Given the description of an element on the screen output the (x, y) to click on. 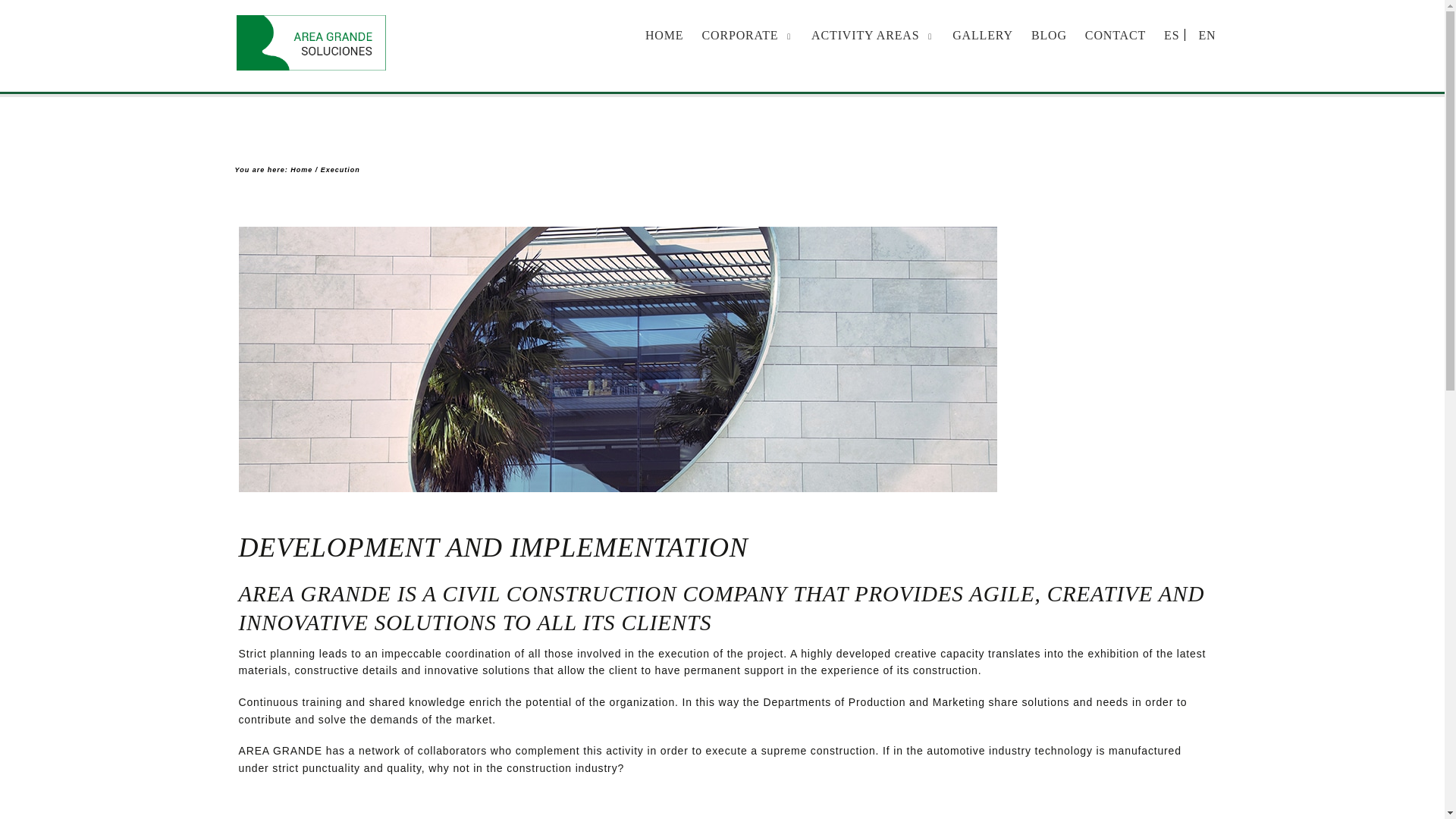
EN (1206, 35)
ES (1171, 35)
CORPORATE (739, 35)
BLOG (1048, 35)
HOME (664, 35)
GALLERY (982, 35)
Home (301, 169)
ACTIVITY AREAS (865, 35)
CONTACT (1115, 35)
